Given the description of an element on the screen output the (x, y) to click on. 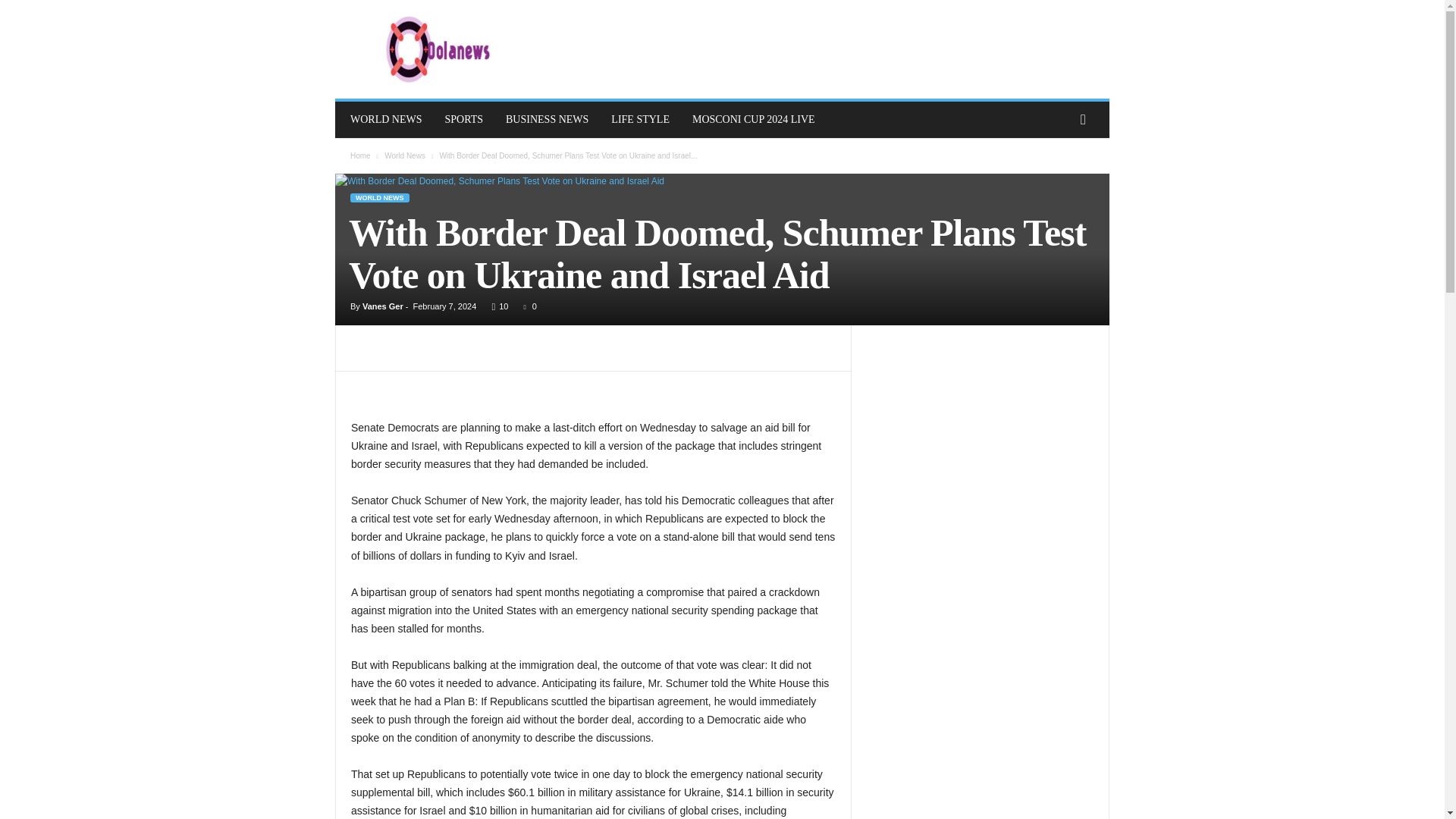
World News (404, 155)
Vanes Ger (382, 306)
OolaNews (437, 48)
LIFE STYLE (640, 119)
SPORTS (464, 119)
View all posts in World News (404, 155)
BUSINESS NEWS (547, 119)
Home (360, 155)
WORLD NEWS (386, 119)
